Given the description of an element on the screen output the (x, y) to click on. 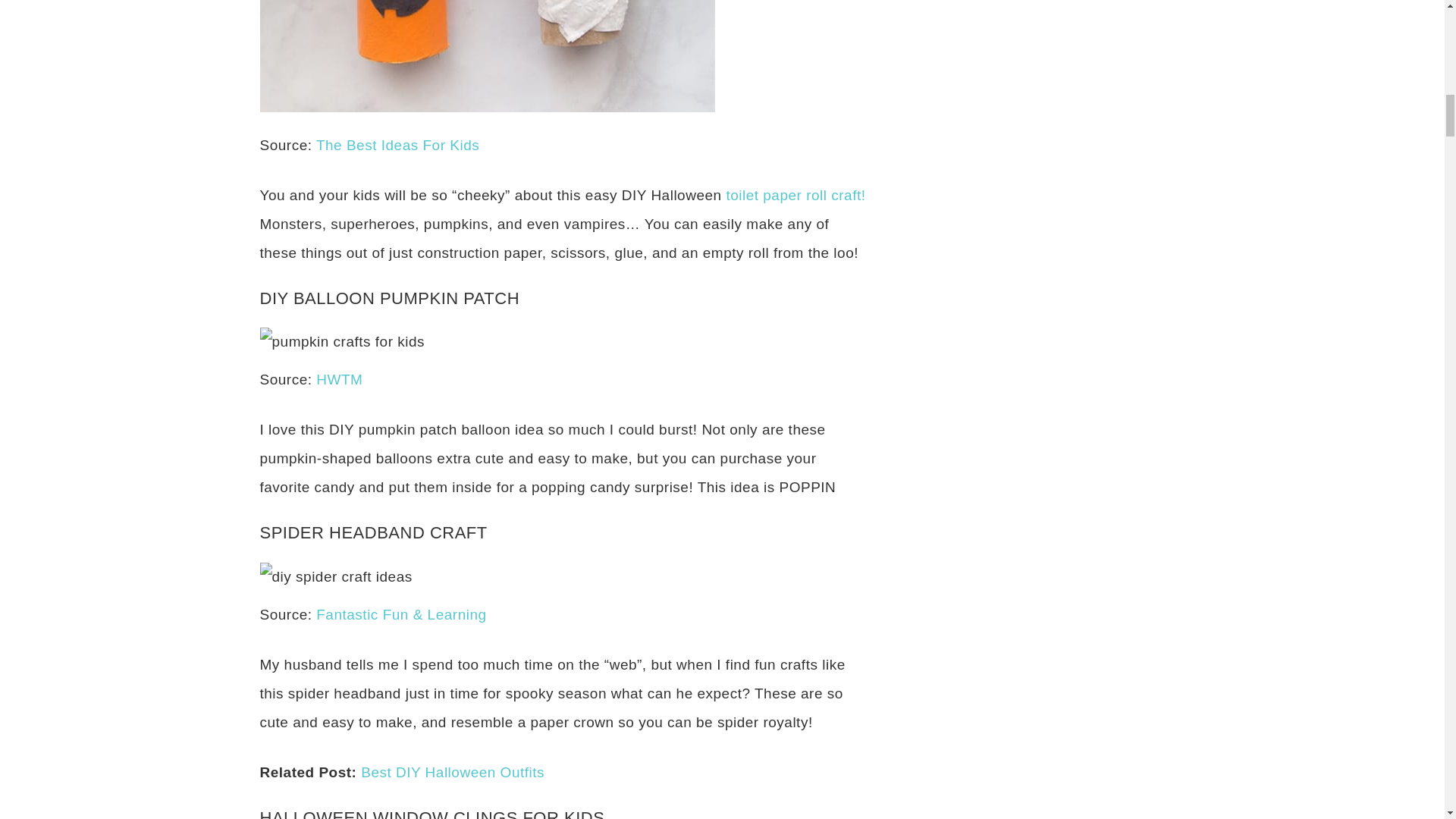
toilet paper roll craft! (794, 195)
The Best Ideas For Kids (397, 145)
HWTM (338, 379)
Best DIY Halloween Outfits (452, 772)
